Given the description of an element on the screen output the (x, y) to click on. 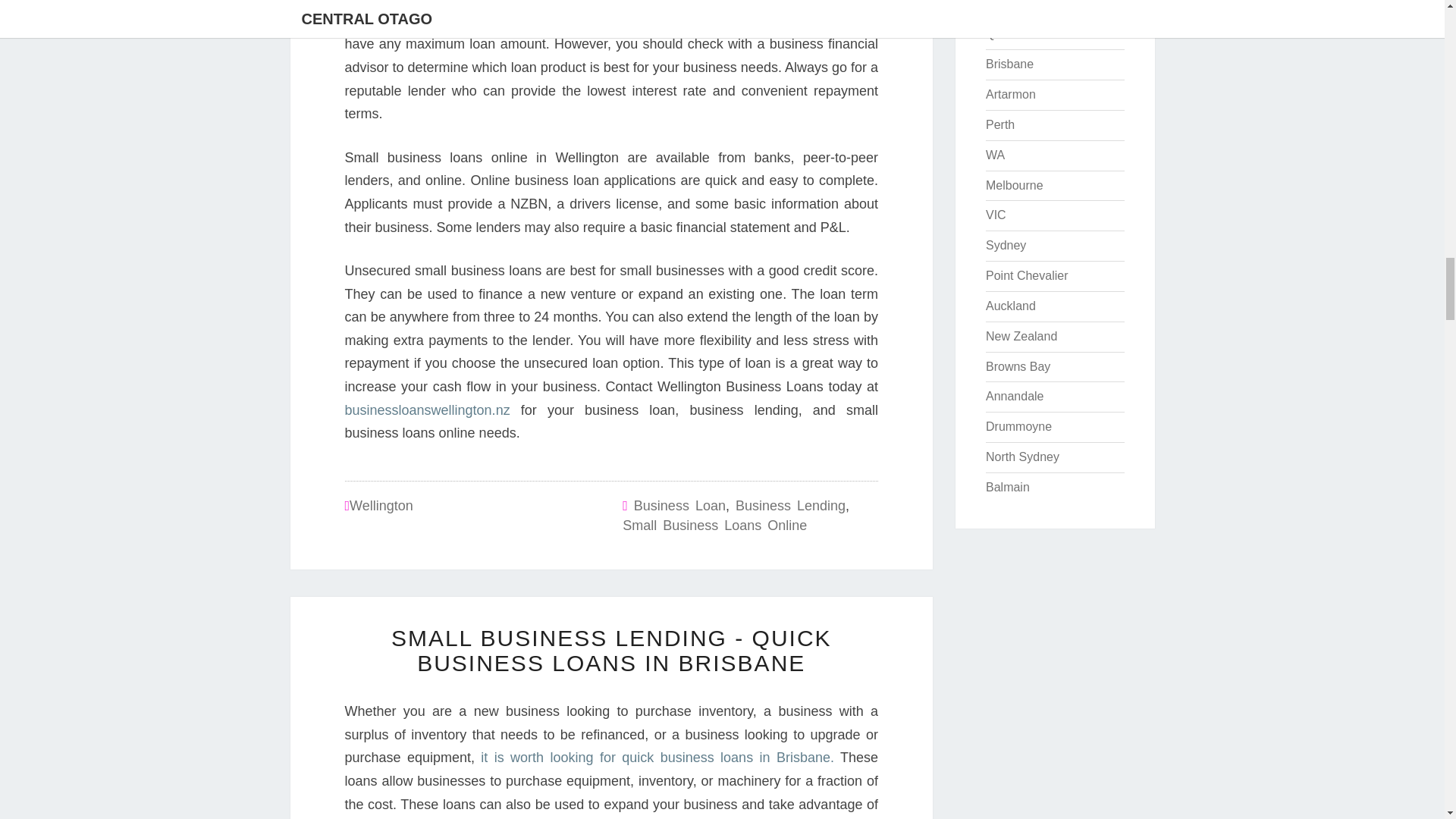
Business Lending (790, 505)
Wellington (381, 505)
SMALL BUSINESS LENDING - QUICK BUSINESS LOANS IN BRISBANE (611, 650)
Business Loan (679, 505)
Small Business Loans Online (714, 525)
it is worth looking for quick business loans in Brisbane. (657, 757)
businessloanswellington.nz (426, 409)
